Given the description of an element on the screen output the (x, y) to click on. 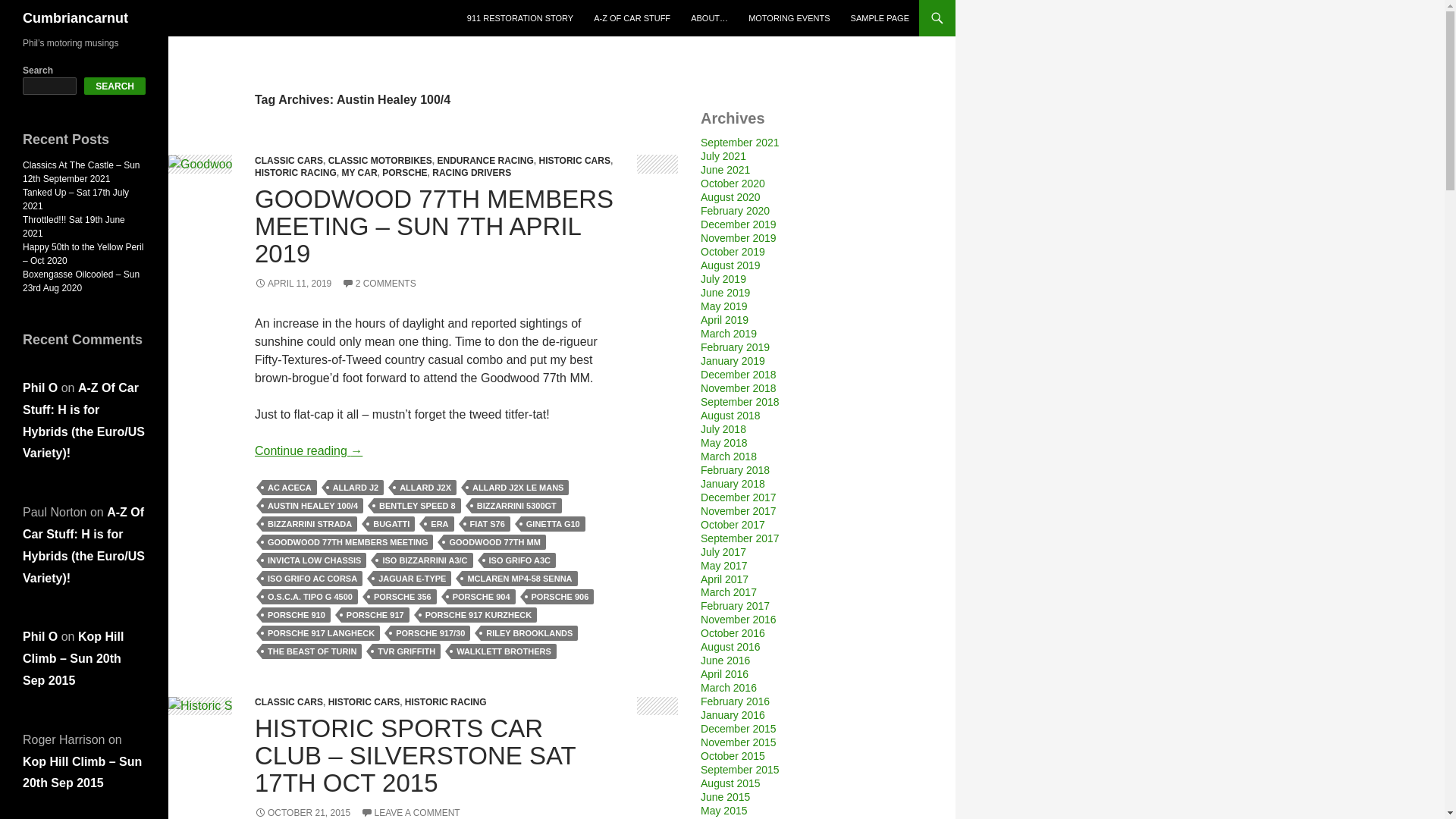
GOODWOOD 77TH MM (494, 541)
GOODWOOD 77TH MEMBERS MEETING (347, 541)
RACING DRIVERS (471, 172)
GINETTA G10 (553, 523)
ALLARD J2 (355, 487)
FIAT S76 (487, 523)
911 RESTORATION STORY (520, 18)
HISTORIC CARS (574, 160)
Cumbriancarnut (75, 18)
APRIL 11, 2019 (292, 283)
